Given the description of an element on the screen output the (x, y) to click on. 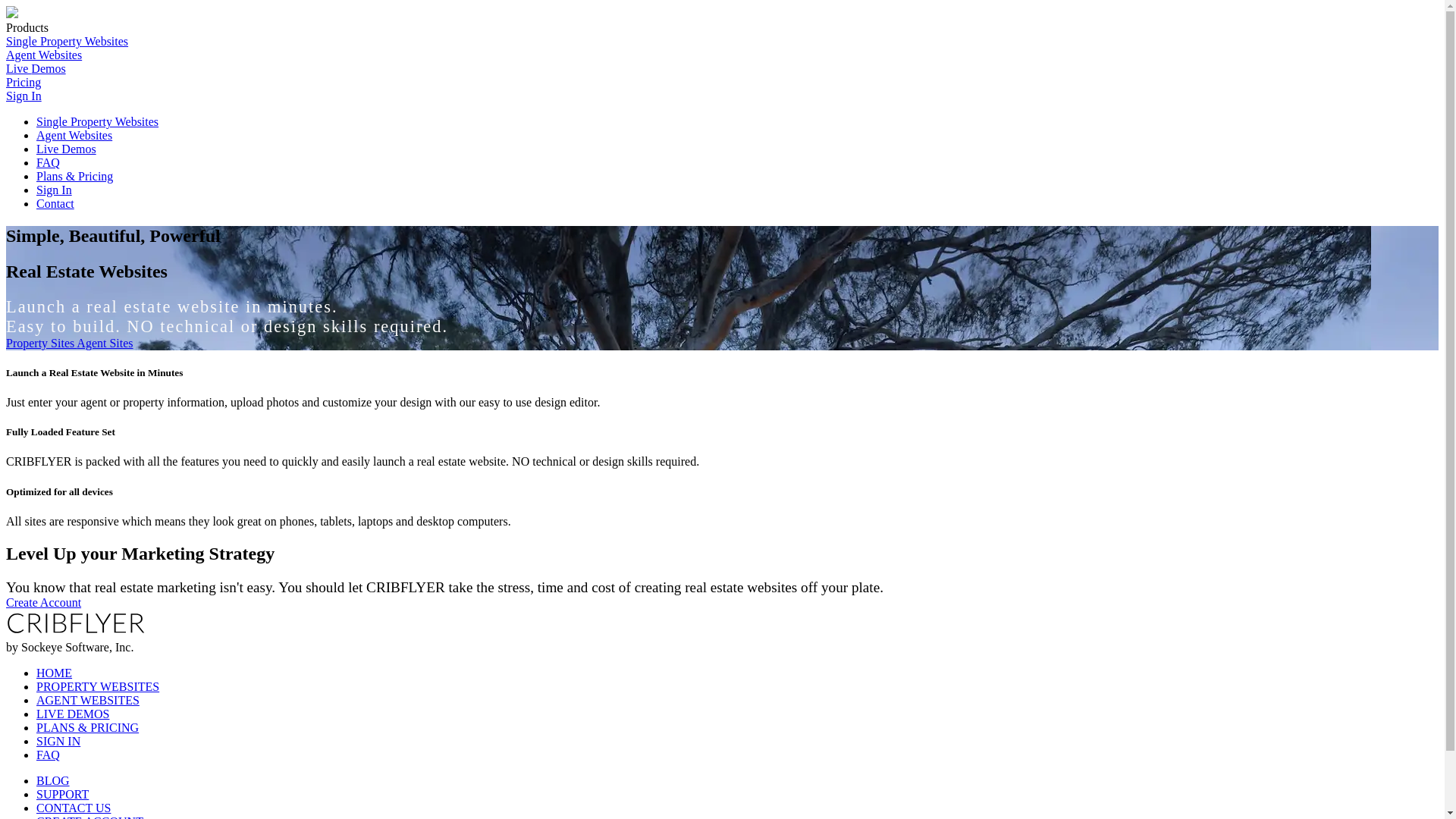
PROPERTY WEBSITES Element type: text (97, 686)
Live Demos Element type: text (66, 148)
SIGN IN Element type: text (58, 740)
CONTACT US Element type: text (73, 807)
Pricing Element type: text (23, 81)
AGENT WEBSITES Element type: text (87, 699)
Agent Websites Element type: text (74, 134)
Single Property Websites Element type: text (67, 40)
Plans & Pricing Element type: text (74, 175)
Products Element type: text (27, 27)
Agent Websites Element type: text (43, 54)
Create Account Element type: text (43, 602)
Sign In Element type: text (54, 189)
LIVE DEMOS Element type: text (72, 713)
Live Demos Element type: text (35, 68)
FAQ Element type: text (47, 162)
PLANS & PRICING Element type: text (87, 727)
Single Property Websites Element type: text (97, 121)
SUPPORT Element type: text (62, 793)
HOME Element type: text (54, 672)
Contact Element type: text (55, 203)
FAQ Element type: text (47, 754)
Sign In Element type: text (23, 95)
Agent Sites Element type: text (104, 342)
BLOG Element type: text (52, 780)
Property Sites Element type: text (41, 342)
